Given the description of an element on the screen output the (x, y) to click on. 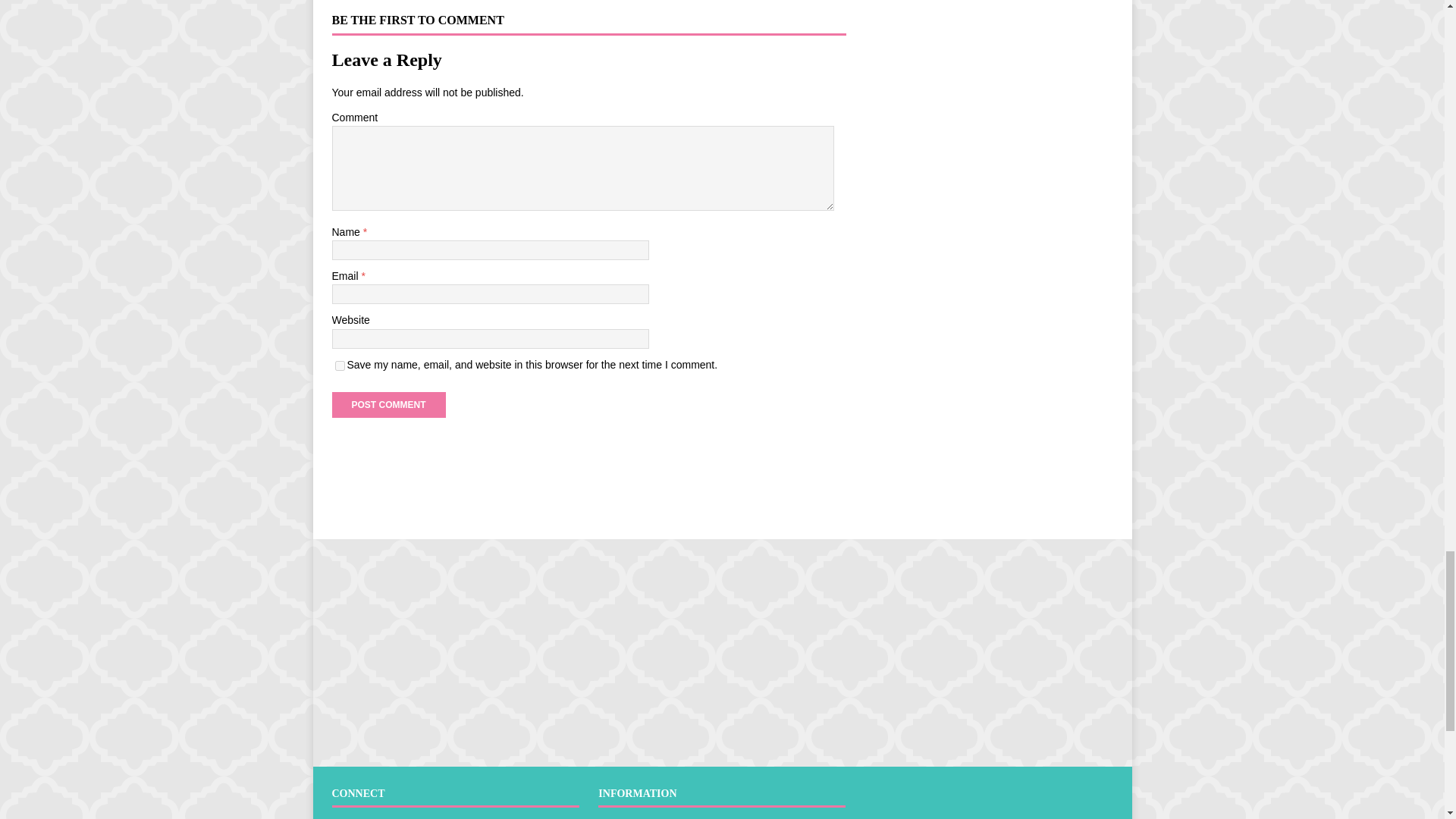
Post Comment (388, 404)
yes (339, 366)
